Given the description of an element on the screen output the (x, y) to click on. 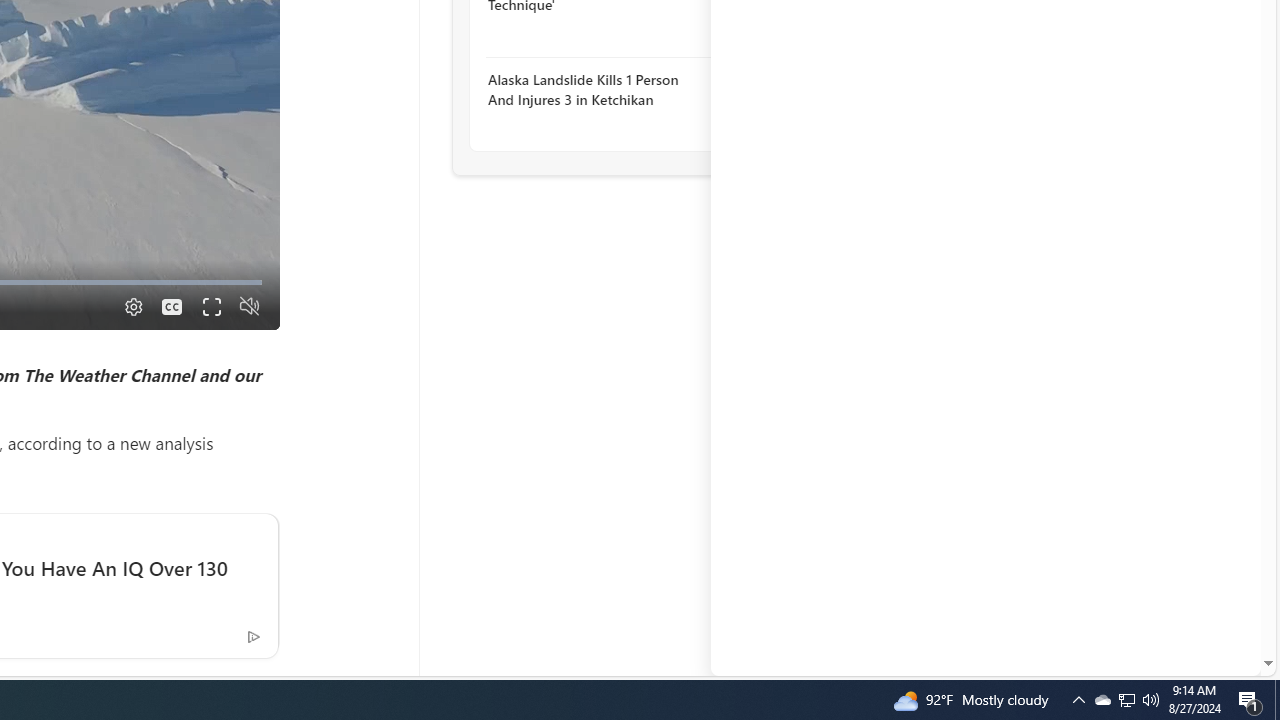
Fullscreen (210, 306)
Quality Settings (131, 306)
Alaska Landslide Kills 1 Person And Injures 3 in Ketchikan (596, 89)
Unmute (249, 306)
Captions (171, 306)
